Given the description of an element on the screen output the (x, y) to click on. 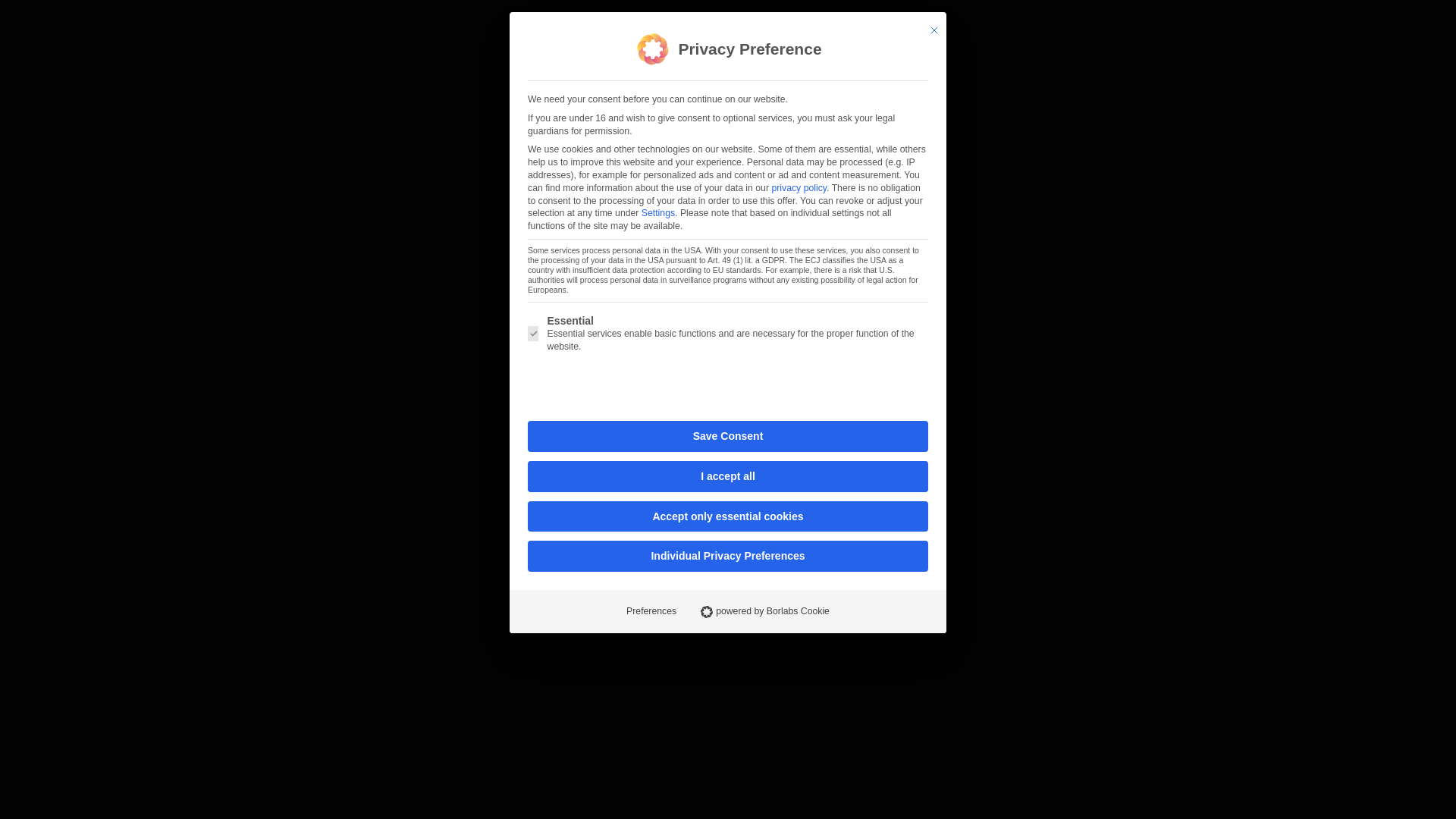
Settings (658, 213)
What Makes us Different (777, 139)
Our Toolset (1016, 139)
I accept all (727, 476)
Accept only essential cookies (727, 516)
About us (652, 139)
powered by Borlabs Cookie (764, 611)
Individual Privacy Preferences (727, 555)
Preferences (651, 611)
Contact us. (1111, 139)
